Given the description of an element on the screen output the (x, y) to click on. 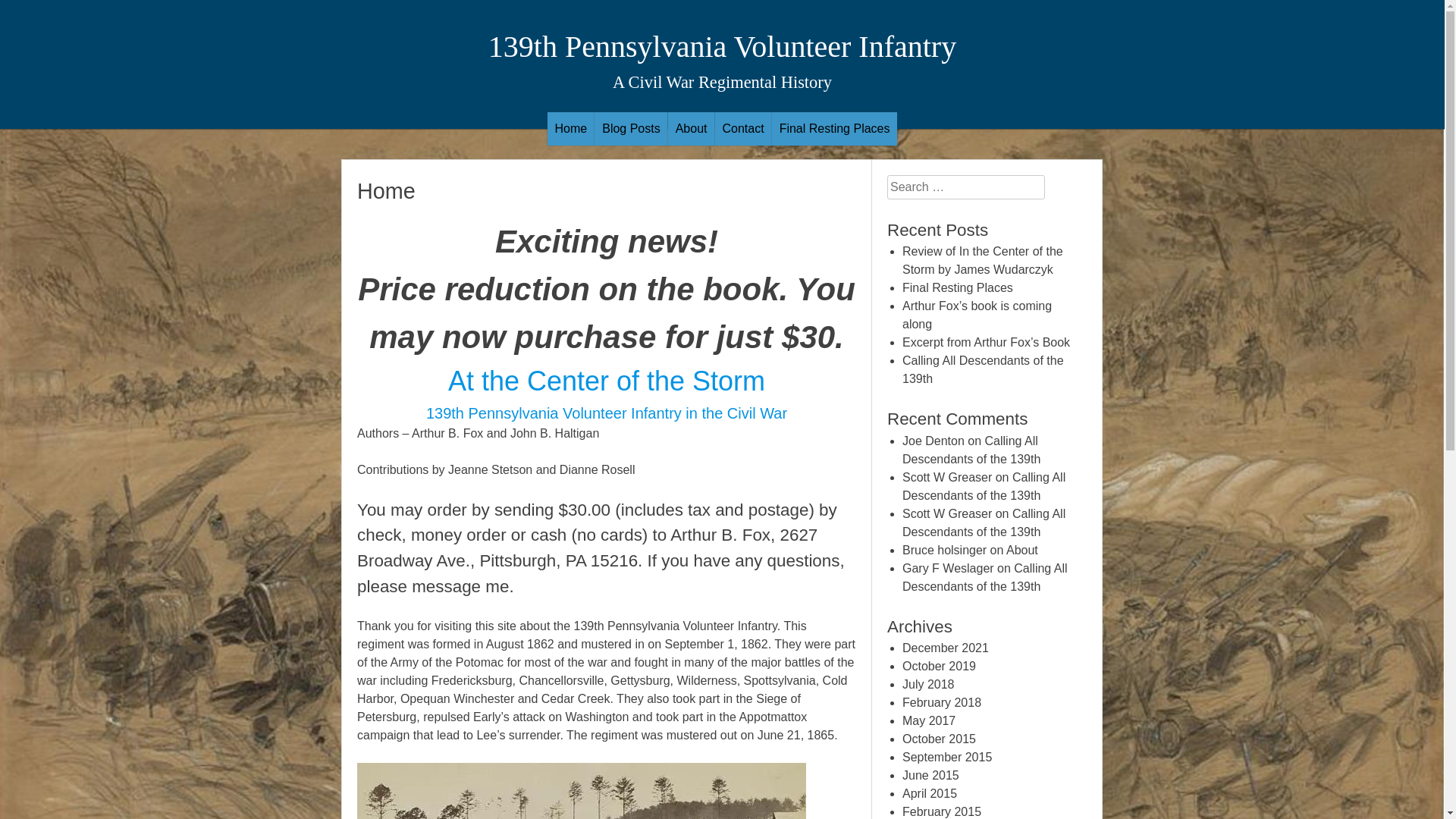
Contact Element type: text (742, 128)
December 2021 Element type: text (945, 647)
Calling All Descendants of the 139th Element type: text (982, 369)
About Element type: text (1022, 549)
Calling All Descendants of the 139th Element type: text (984, 577)
Search Element type: text (24, 9)
September 2015 Element type: text (946, 756)
About Element type: text (691, 128)
May 2017 Element type: text (928, 720)
April 2015 Element type: text (929, 793)
February 2015 Element type: text (941, 811)
Blog Posts Element type: text (630, 128)
October 2019 Element type: text (938, 665)
Final Resting Places Element type: text (834, 128)
Calling All Descendants of the 139th Element type: text (971, 449)
October 2015 Element type: text (938, 738)
June 2015 Element type: text (930, 774)
July 2018 Element type: text (928, 683)
Final Resting Places Element type: text (957, 287)
Home Element type: text (571, 128)
February 2018 Element type: text (941, 702)
Review of In the Center of the Storm by James Wudarczyk Element type: text (982, 260)
Calling All Descendants of the 139th Element type: text (983, 522)
Calling All Descendants of the 139th Element type: text (983, 486)
139th Pennsylvania Volunteer Infantry Element type: text (722, 46)
